Given the description of an element on the screen output the (x, y) to click on. 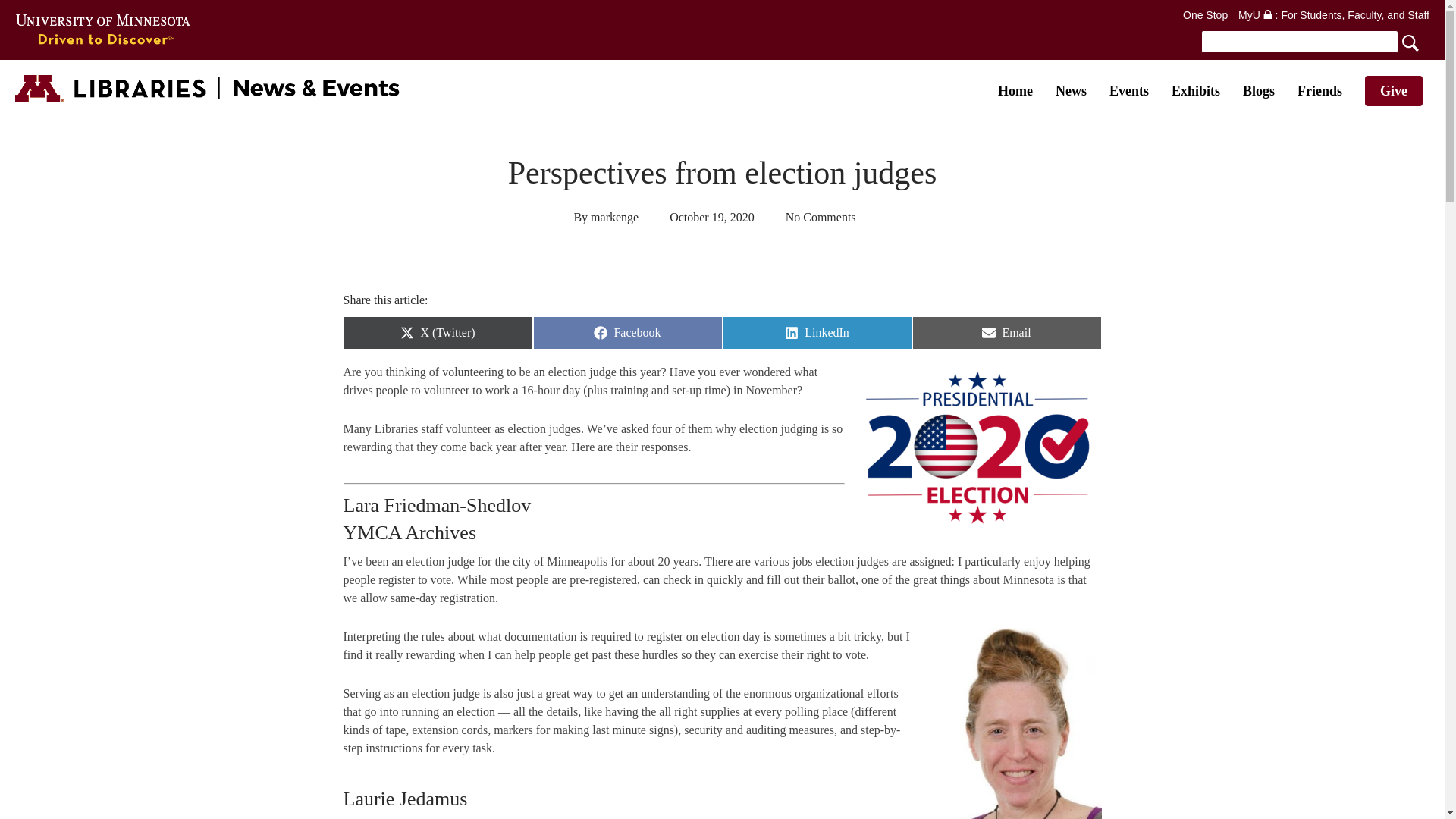
Give (1393, 90)
Friends (1319, 90)
MyU : For Students, Faculty, and Staff (1334, 15)
News (1070, 90)
Posts by markenge (615, 216)
Exhibits (1196, 90)
Search (1313, 41)
One Stop (1204, 15)
Events (1128, 90)
Home (1014, 90)
Blogs (1259, 90)
